Given the description of an element on the screen output the (x, y) to click on. 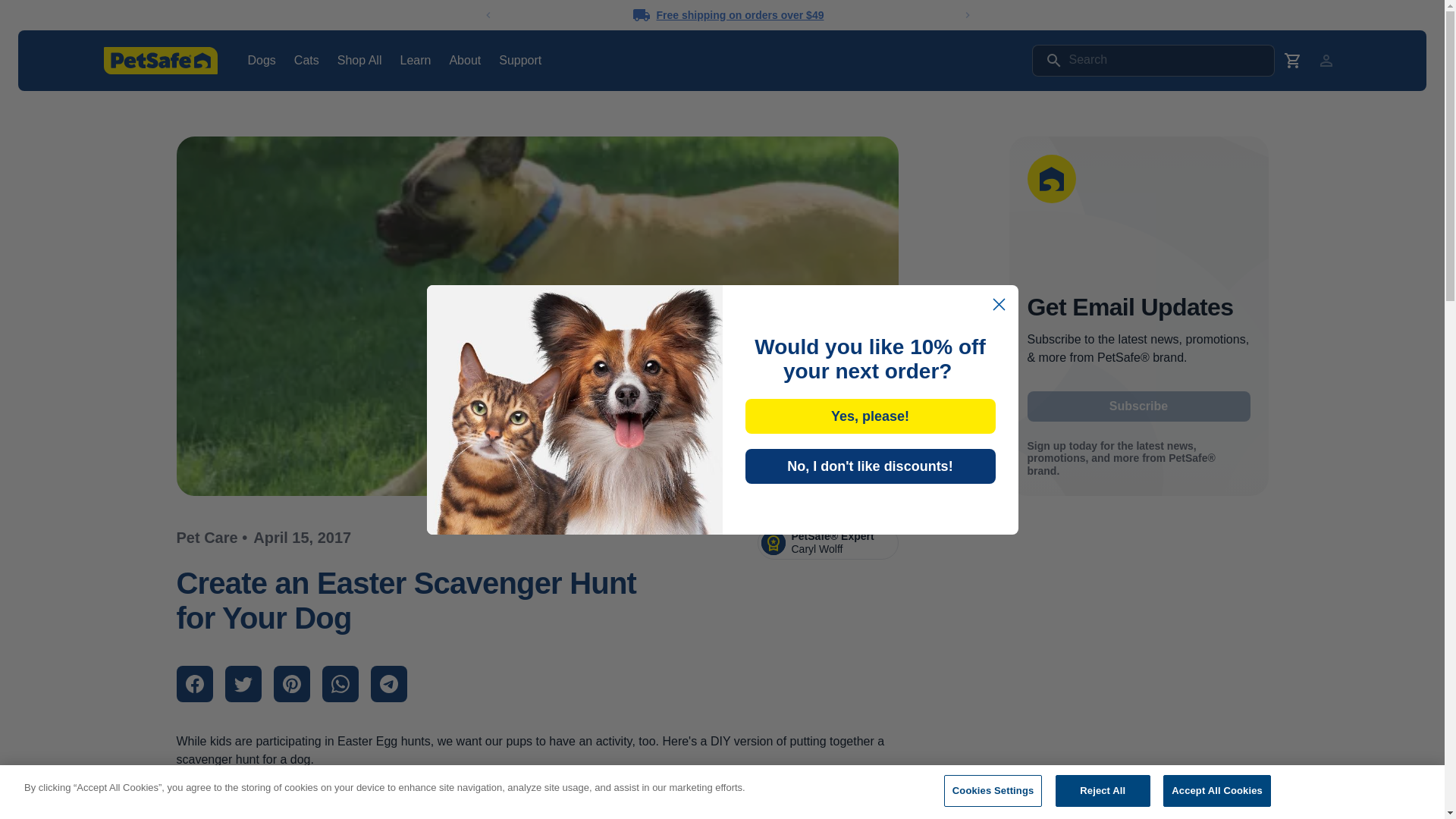
Support (520, 60)
Close dialog 1 (998, 304)
Subscribe (1137, 406)
Shop All (359, 60)
